Given the description of an element on the screen output the (x, y) to click on. 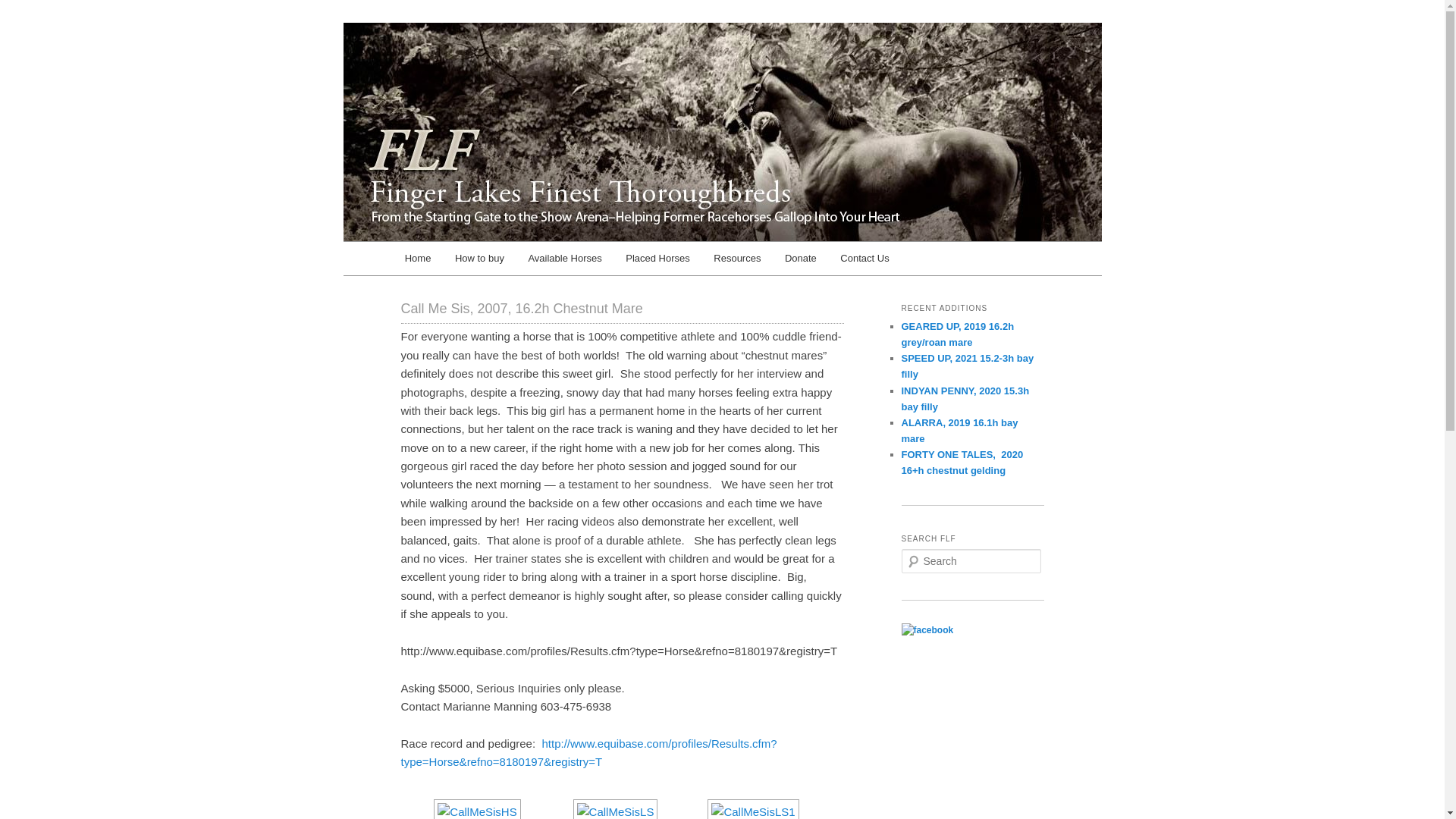
Donate (800, 257)
ALARRA, 2019 16.1h bay mare (959, 430)
CallMeSisLS1 (752, 809)
Contact Us (864, 257)
Skip to secondary content (479, 260)
Skip to primary content (472, 260)
Finger Lakes Finest Thoroughbreds (594, 77)
Home (417, 257)
INDYAN PENNY, 2020 15.3h bay filly (965, 398)
Search (21, 11)
Skip to primary content (472, 260)
Available Horses (565, 257)
Placed Horses (656, 257)
Finger Lakes Finest Thoroughbreds (594, 77)
2020 (656, 257)
